Given the description of an element on the screen output the (x, y) to click on. 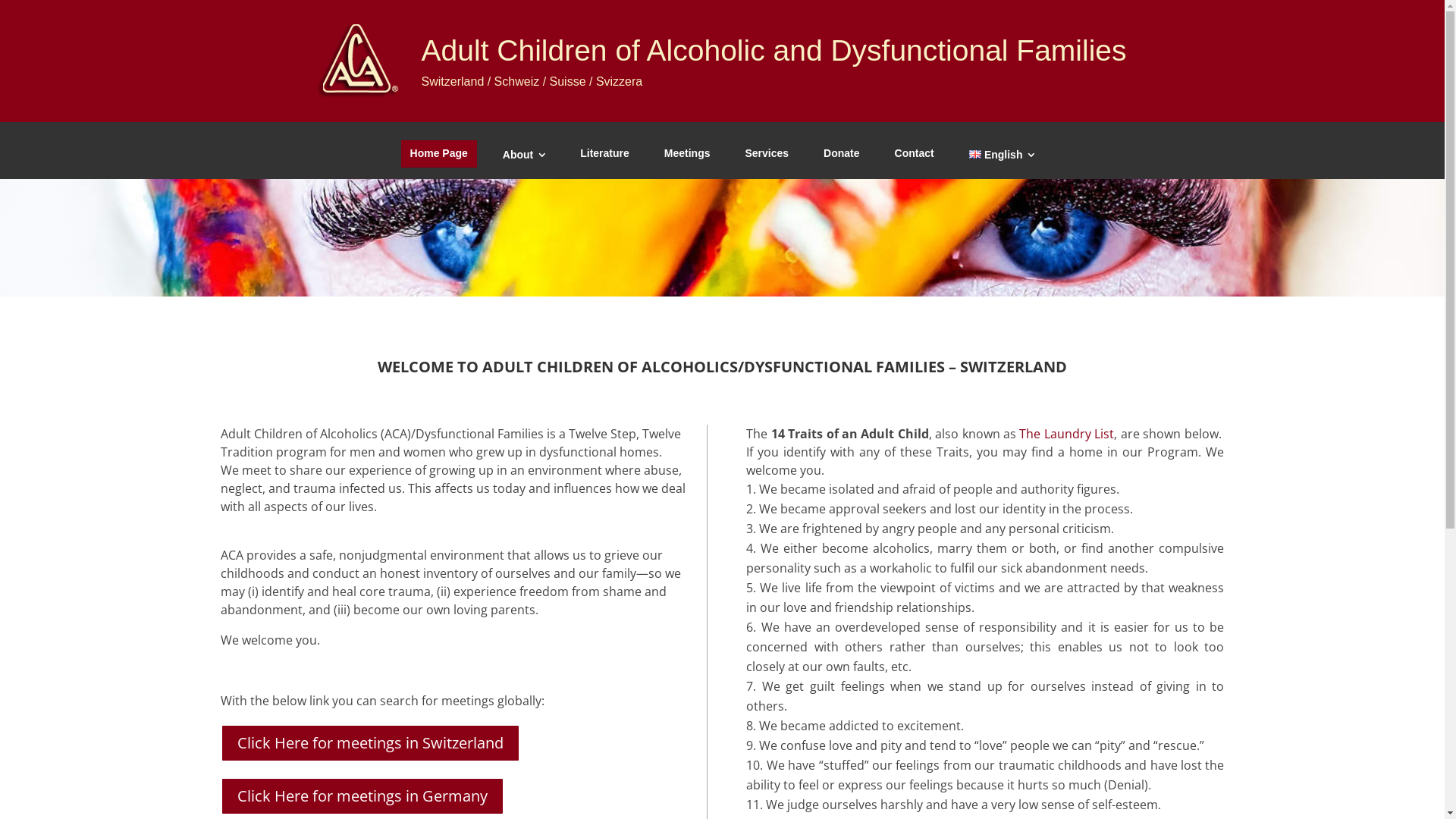
Click Here for meetings in Switzerland Element type: text (369, 743)
logo_klein Element type: hover (357, 59)
Click Here for meetings in Germany Element type: text (361, 796)
Donate Element type: text (841, 153)
Home Page Element type: text (438, 153)
The Laundry List Element type: text (1066, 433)
Services Element type: text (766, 153)
About Element type: text (523, 153)
Meetings Element type: text (687, 153)
English Element type: text (1002, 153)
Literature Element type: text (604, 153)
Contact Element type: text (914, 153)
